Given the description of an element on the screen output the (x, y) to click on. 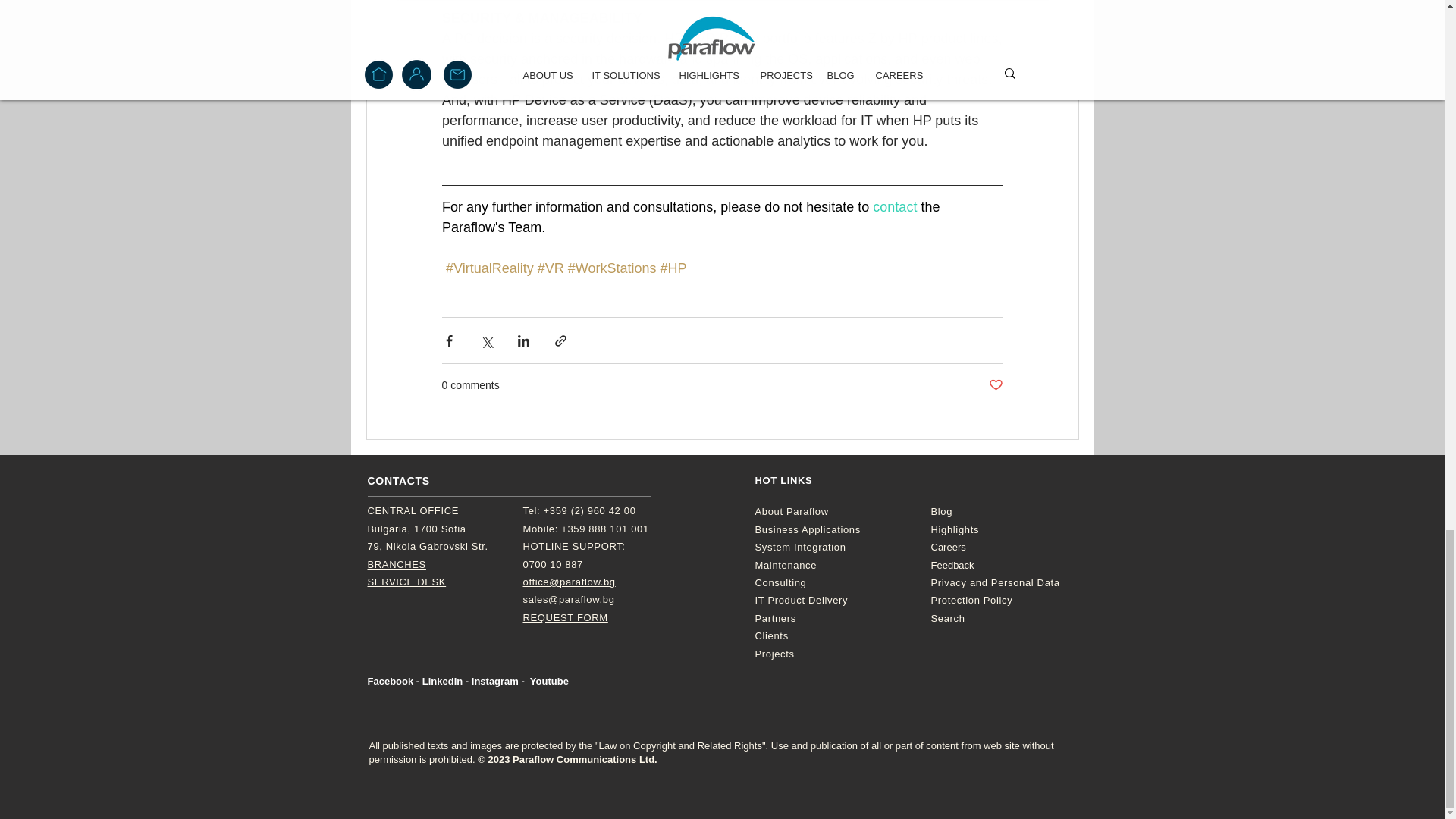
Post not marked as liked (995, 385)
BRANCHES (395, 564)
REQUEST FORM (565, 617)
System Integration (800, 546)
HOT LINKS (783, 480)
Youtube (549, 681)
Instagram (494, 681)
About Paraflow (791, 511)
Facebook (389, 681)
Maintenance (785, 564)
contact  (896, 206)
Business Applications (807, 529)
CENTRAL OFFICE (412, 510)
SERVICE DESK (405, 582)
LinkedIn (442, 681)
